Given the description of an element on the screen output the (x, y) to click on. 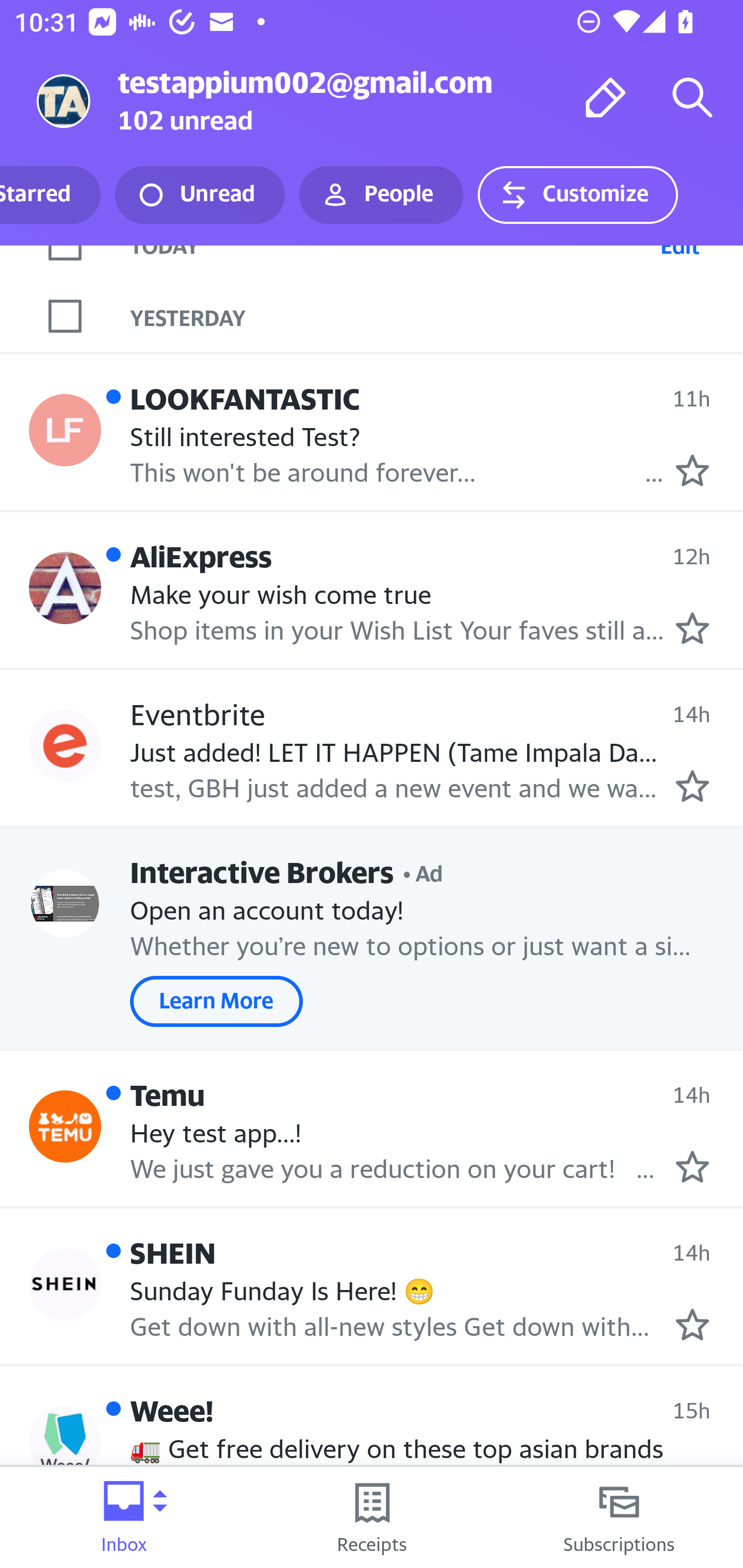
Compose (605, 97)
Search mail (692, 97)
Unread (199, 195)
People (381, 195)
Customize (577, 195)
YESTERDAY (436, 315)
Profile
LOOKFANTASTIC (64, 429)
Mark as starred. (692, 470)
Profile
AliExpress (64, 587)
Mark as starred. (692, 627)
Profile
Eventbrite (64, 746)
Mark as starred. (692, 786)
Profile
Temu (64, 1125)
Mark as starred. (692, 1167)
Profile
SHEIN (64, 1284)
Mark as starred. (692, 1324)
Profile
Weee! (64, 1442)
Inbox Folder picker (123, 1517)
Receipts (371, 1517)
Subscriptions (619, 1517)
